Given the description of an element on the screen output the (x, y) to click on. 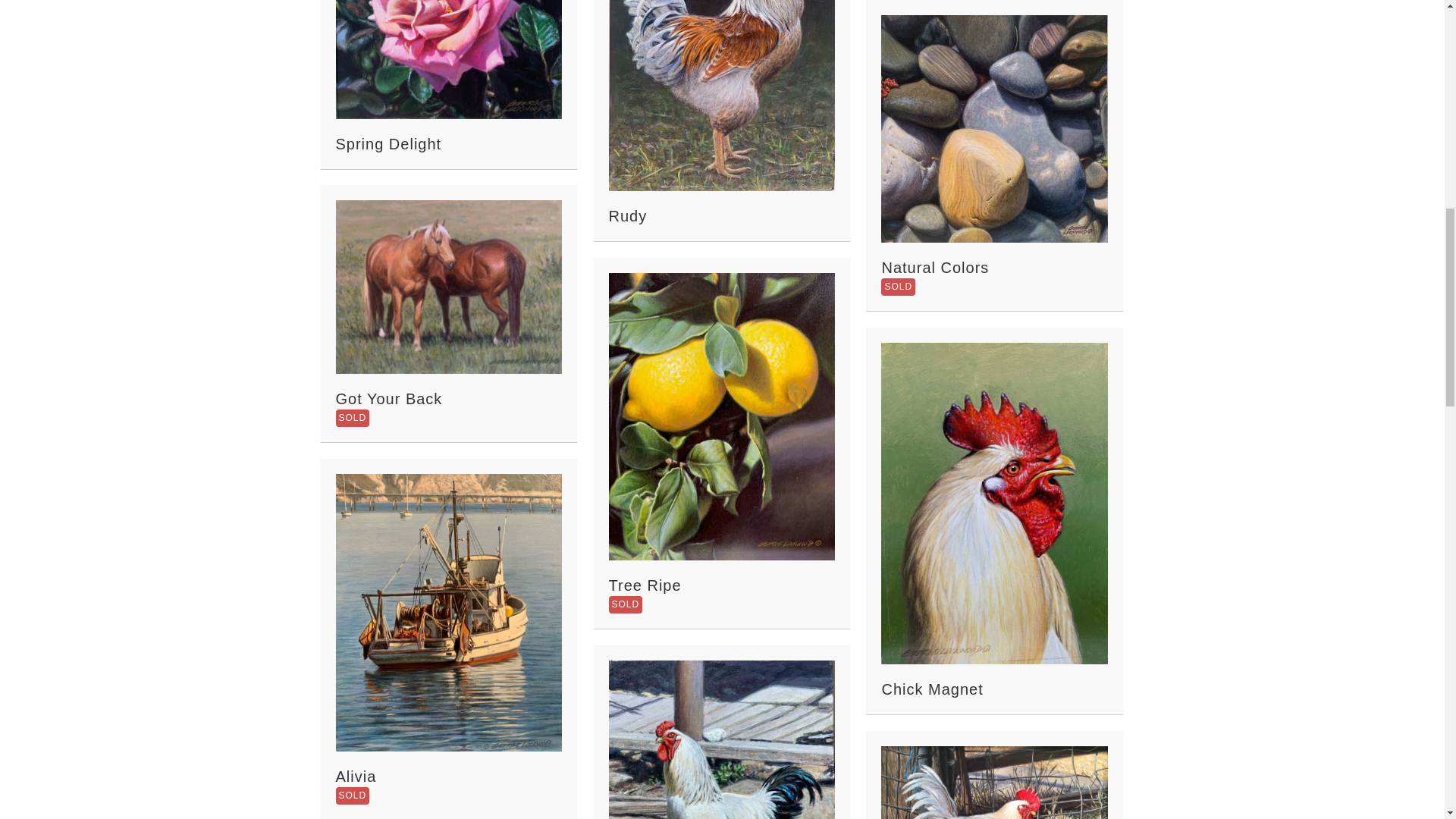
Rudy (721, 50)
Spring Delight (387, 143)
Spring Delight (387, 143)
Spring Delight (448, 5)
